Given the description of an element on the screen output the (x, y) to click on. 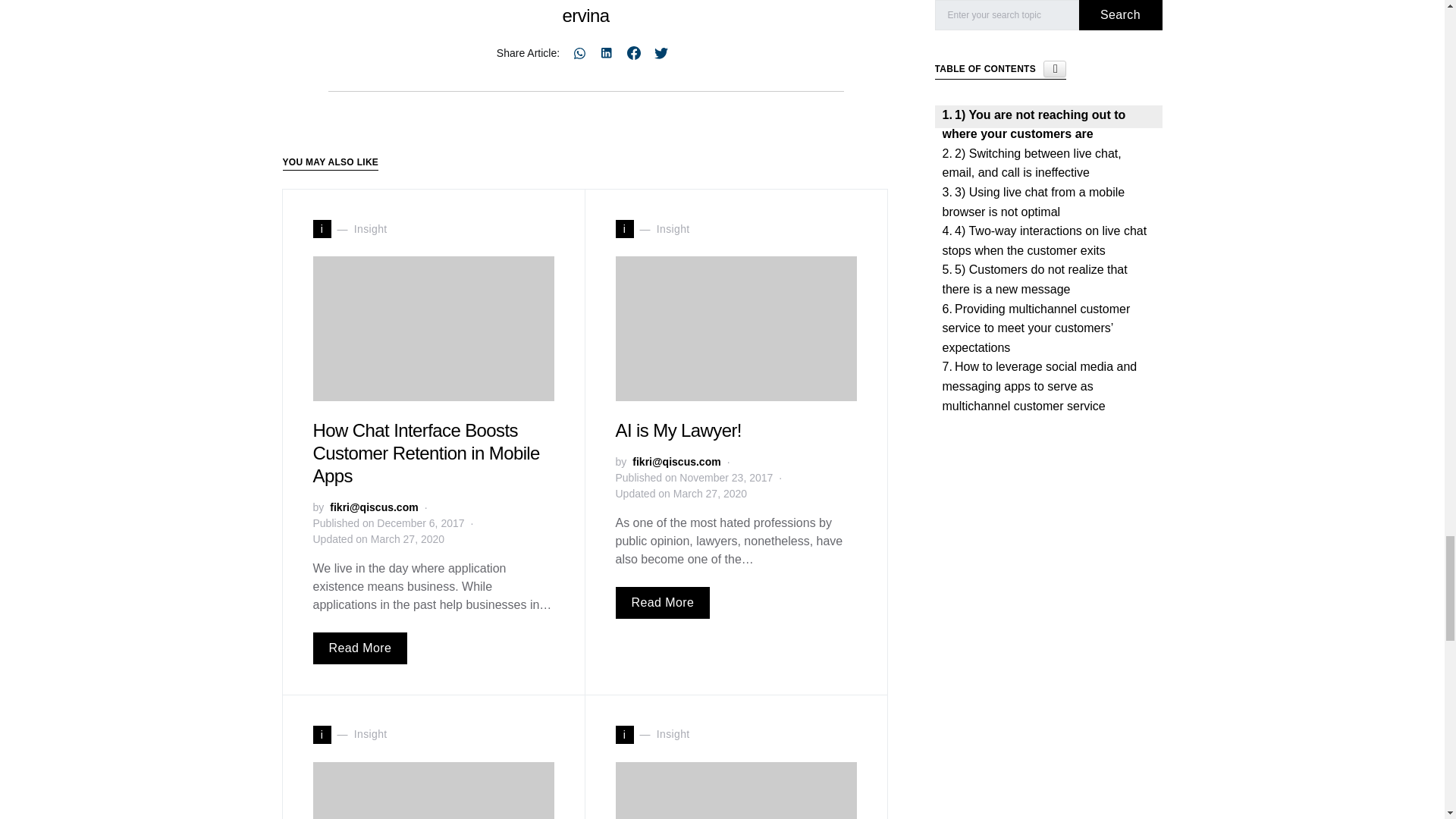
ervina (586, 14)
